Given the description of an element on the screen output the (x, y) to click on. 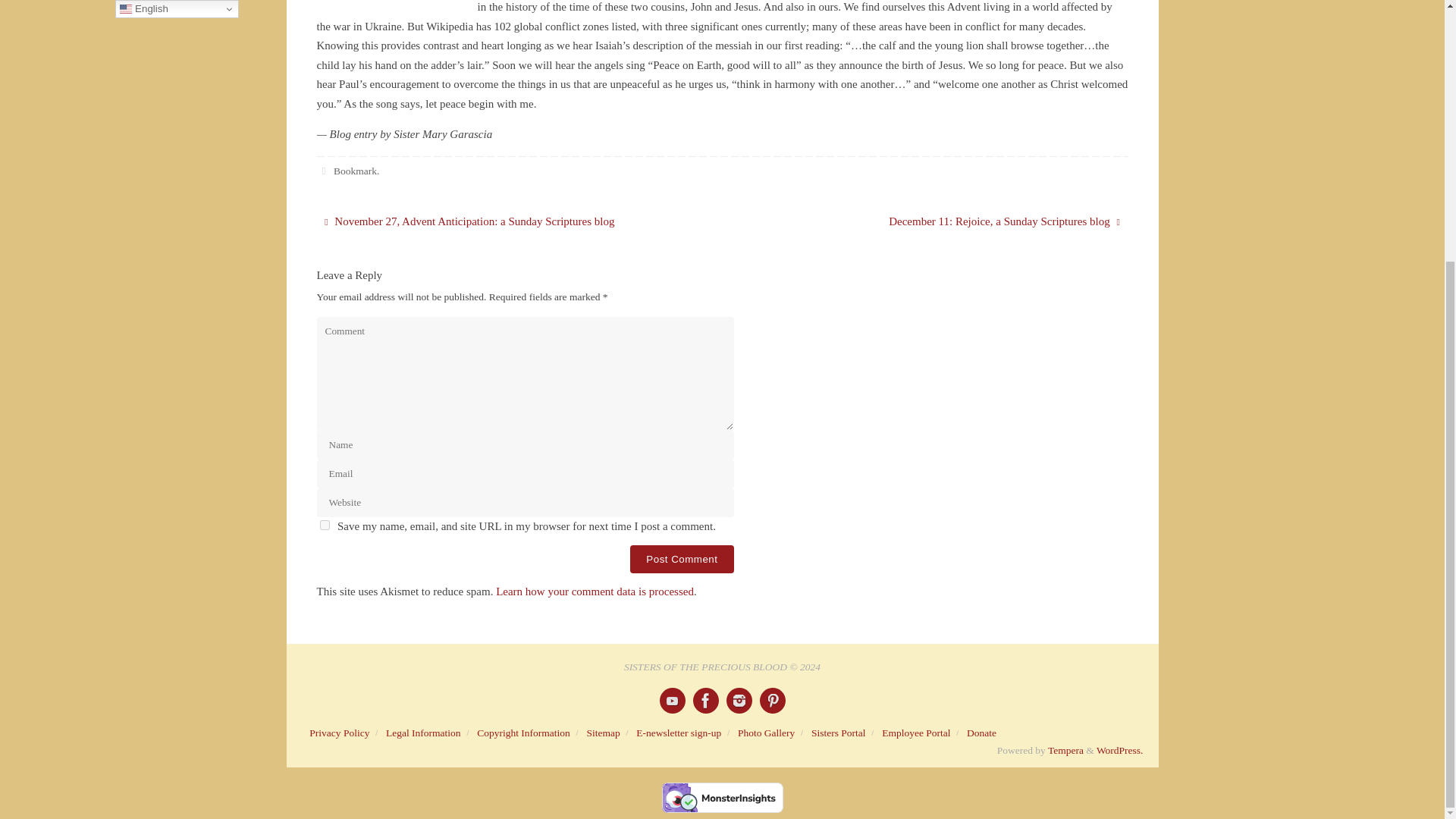
Copyright Information (523, 732)
Permalink to December 4, Peace: a Sunday Scriptures blog (355, 170)
Post Comment (681, 559)
December 11: Rejoice, a Sunday Scriptures blog (937, 221)
Sitemap (603, 732)
Learn how your comment data is processed (595, 591)
Instagram (739, 700)
yes (325, 524)
Bookmark (355, 170)
Privacy Policy (338, 732)
YouTube (672, 700)
Facebook (706, 700)
November 27, Advent Anticipation: a Sunday Scriptures blog (507, 221)
Legal Information (423, 732)
 Bookmark the permalink (324, 170)
